Given the description of an element on the screen output the (x, y) to click on. 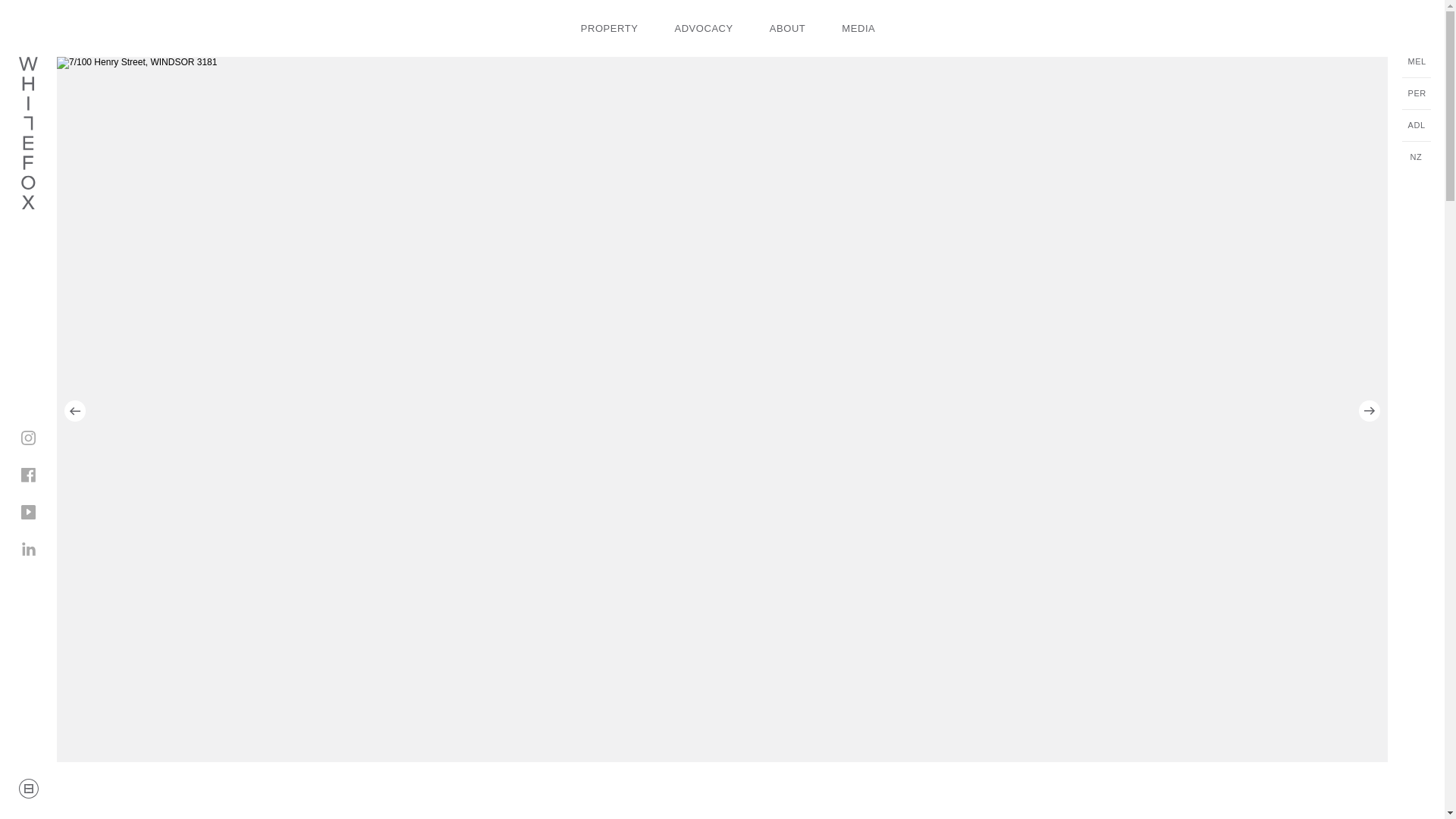
ADVOCACY (703, 28)
MEL (1414, 61)
PROPERTY (609, 28)
ABOUT (788, 28)
PER (1414, 93)
ADL (1414, 125)
NZ (1414, 157)
MEDIA (858, 28)
